Given the description of an element on the screen output the (x, y) to click on. 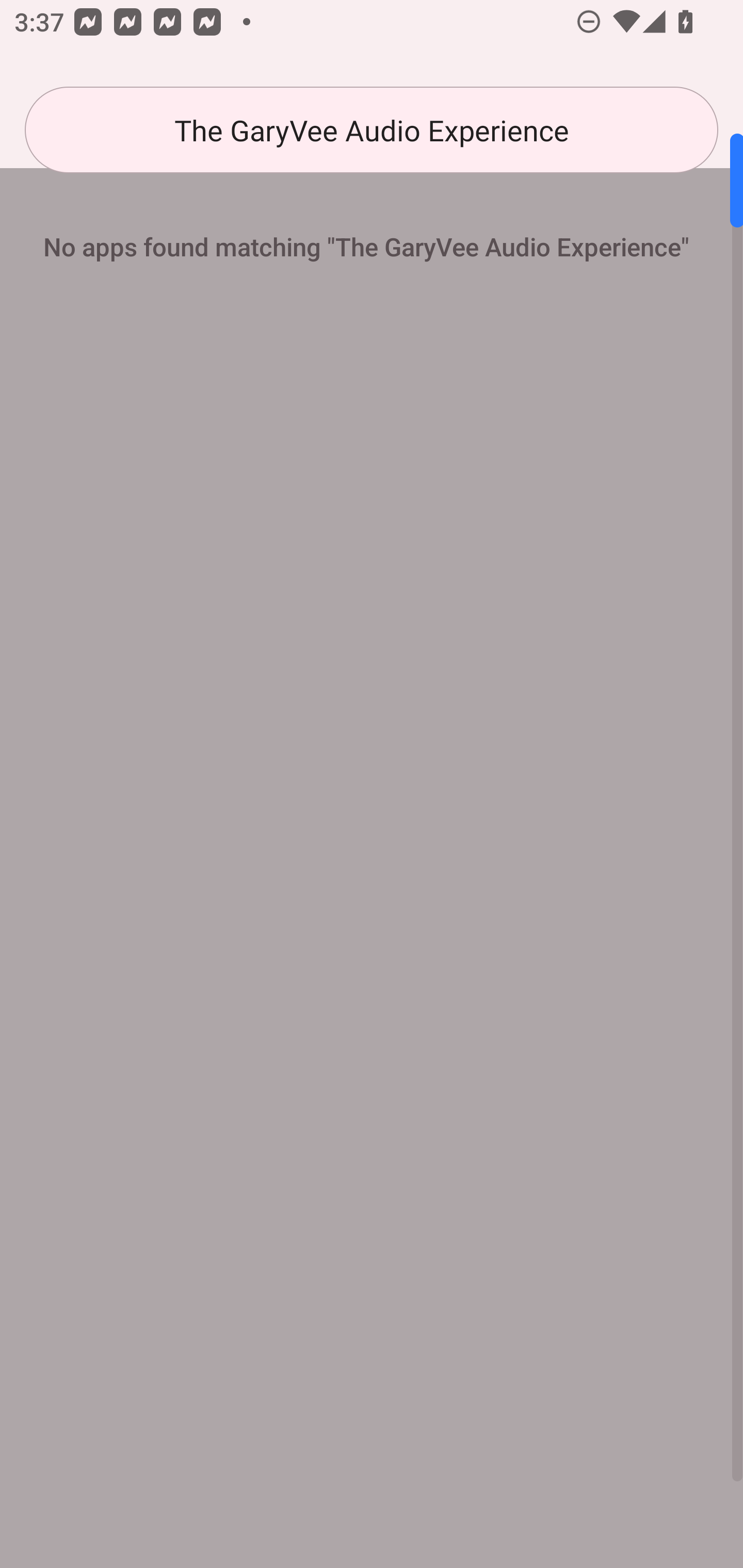
The GaryVee Audio Experience (371, 130)
